Given the description of an element on the screen output the (x, y) to click on. 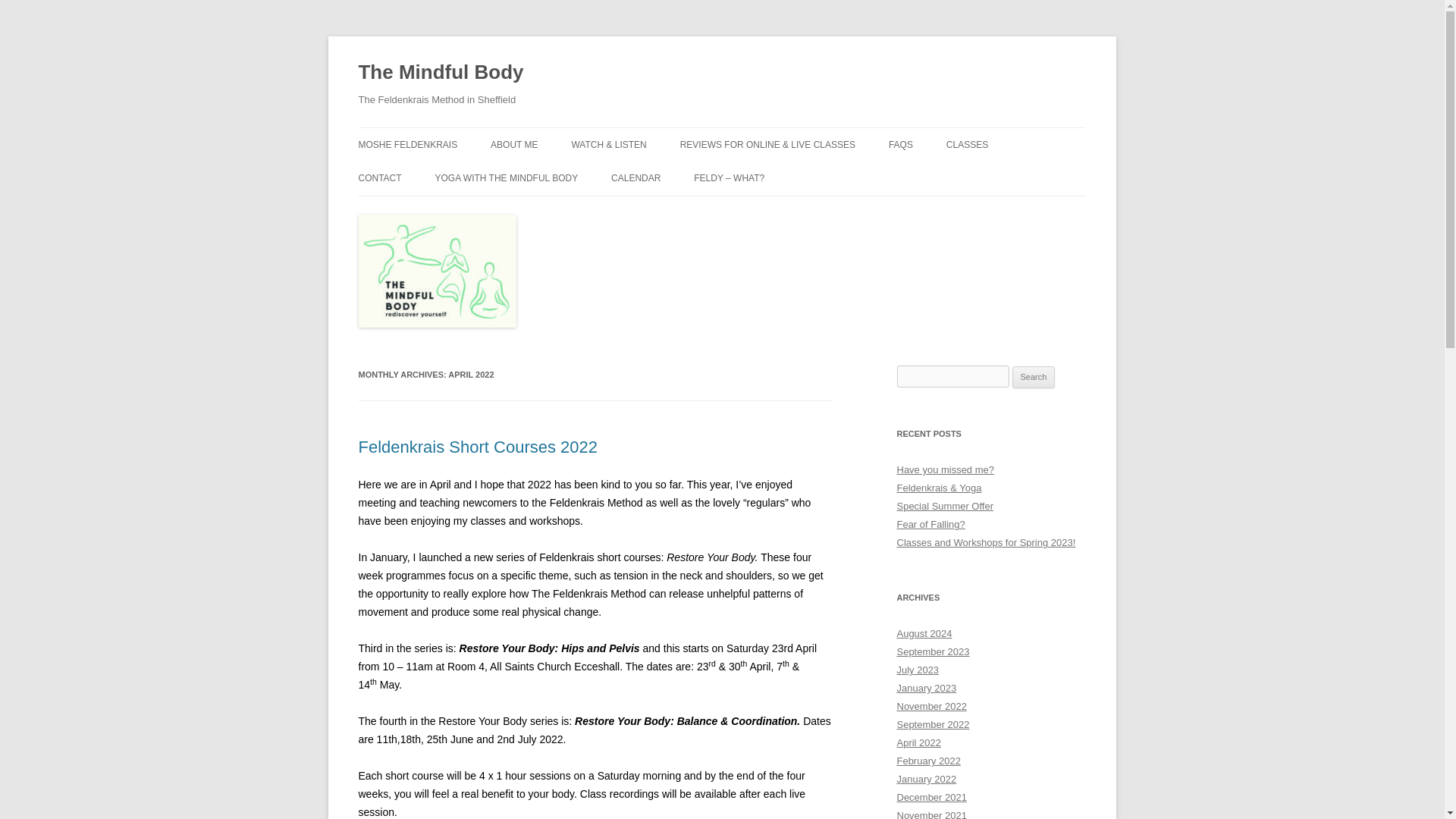
September 2022 (932, 724)
MOSHE FELDENKRAIS (407, 144)
April 2022 (918, 742)
CALENDAR (636, 177)
Search (1033, 377)
CLASSES (967, 144)
Feldenkrais Short Courses 2022 (477, 446)
CONTACT (379, 177)
September 2023 (932, 651)
January 2022 (926, 778)
